Given the description of an element on the screen output the (x, y) to click on. 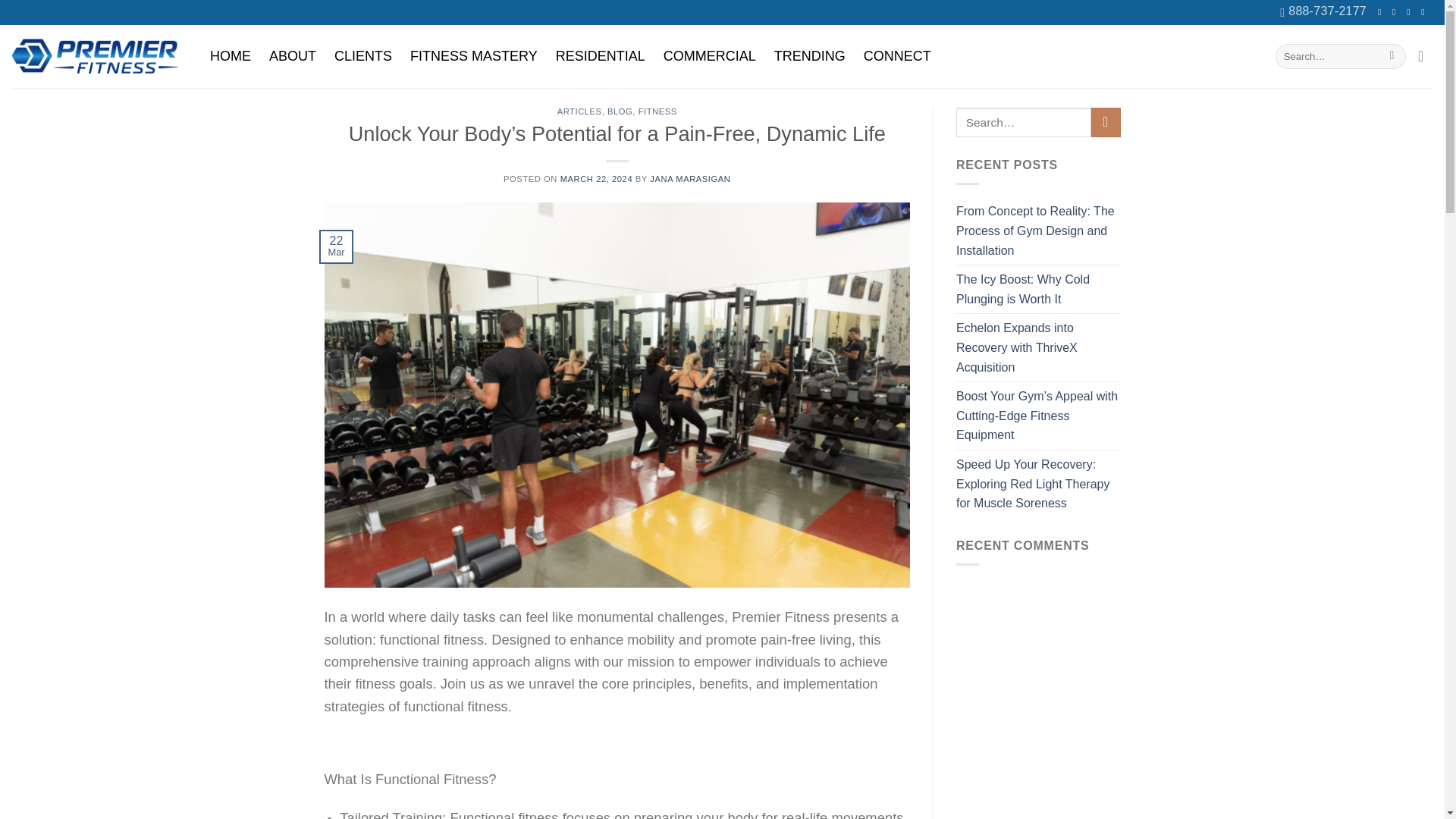
CLIENTS (362, 55)
Premier Fitness - Premier Fitness (94, 55)
FITNESS MASTERY (474, 55)
ABOUT (292, 55)
888-737-2177 (1323, 12)
888-737-2177 (1323, 12)
HOME (230, 55)
